Given the description of an element on the screen output the (x, y) to click on. 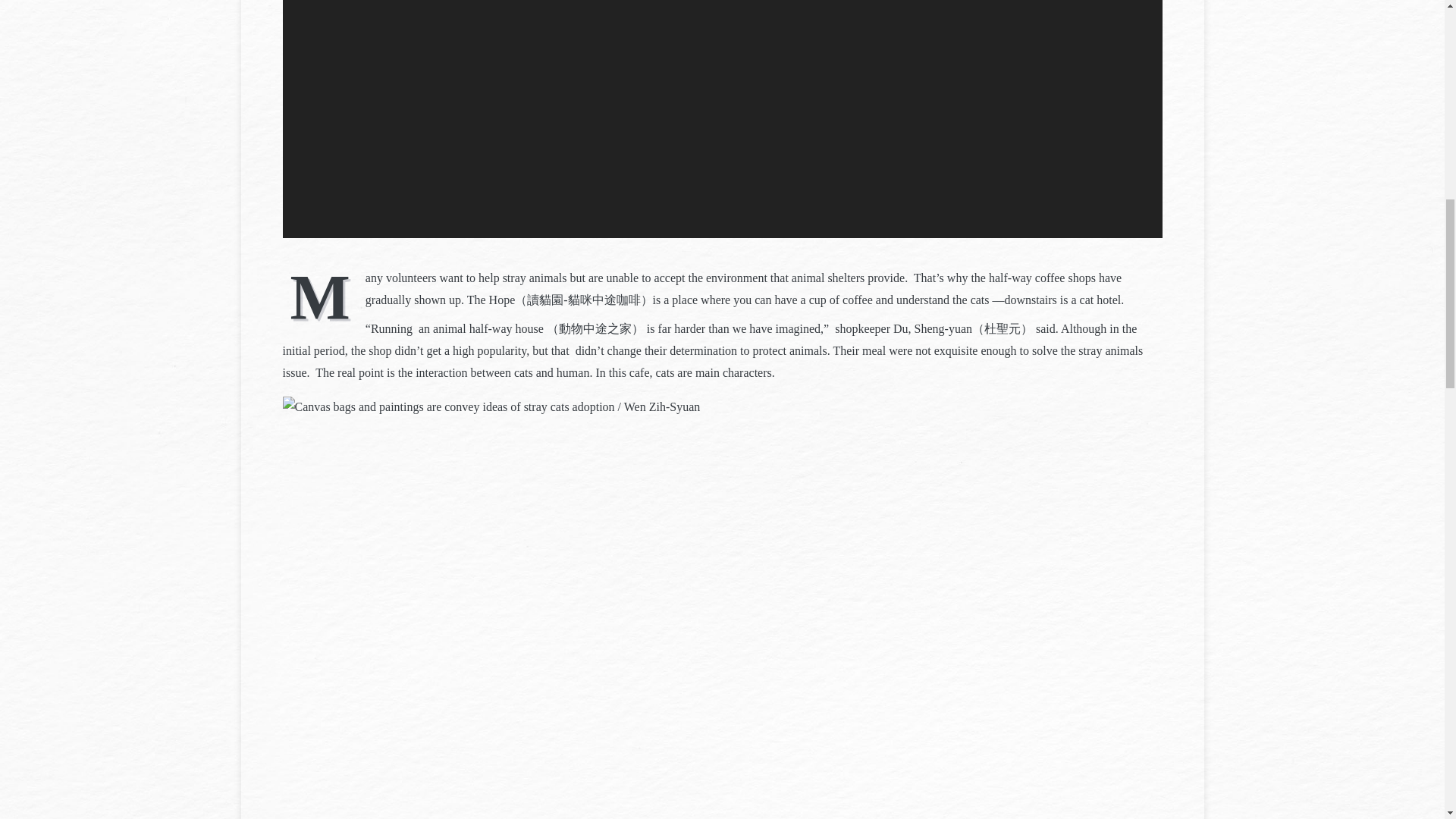
M (323, 295)
